Given the description of an element on the screen output the (x, y) to click on. 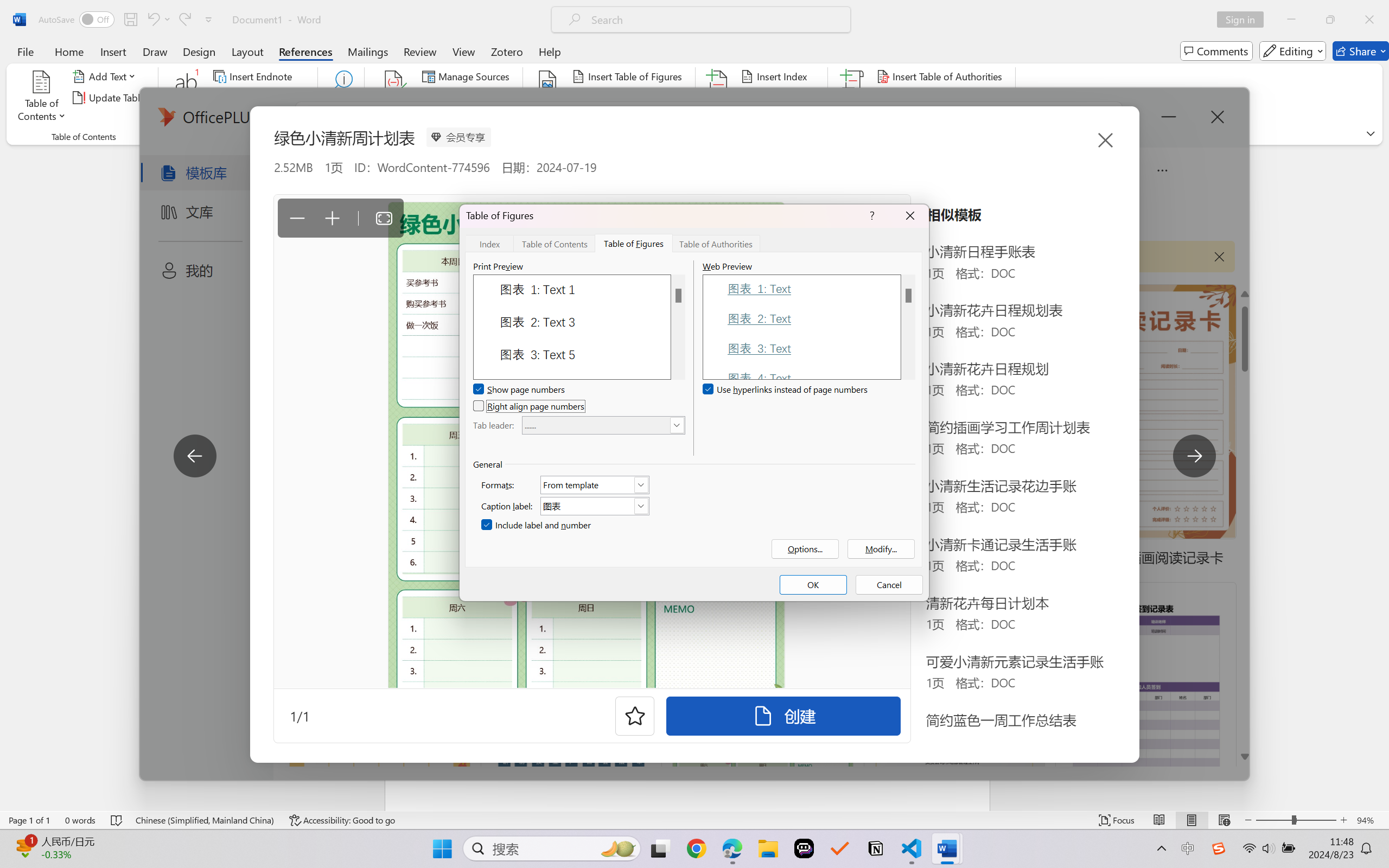
Search (341, 97)
Modify... (881, 548)
